Given the description of an element on the screen output the (x, y) to click on. 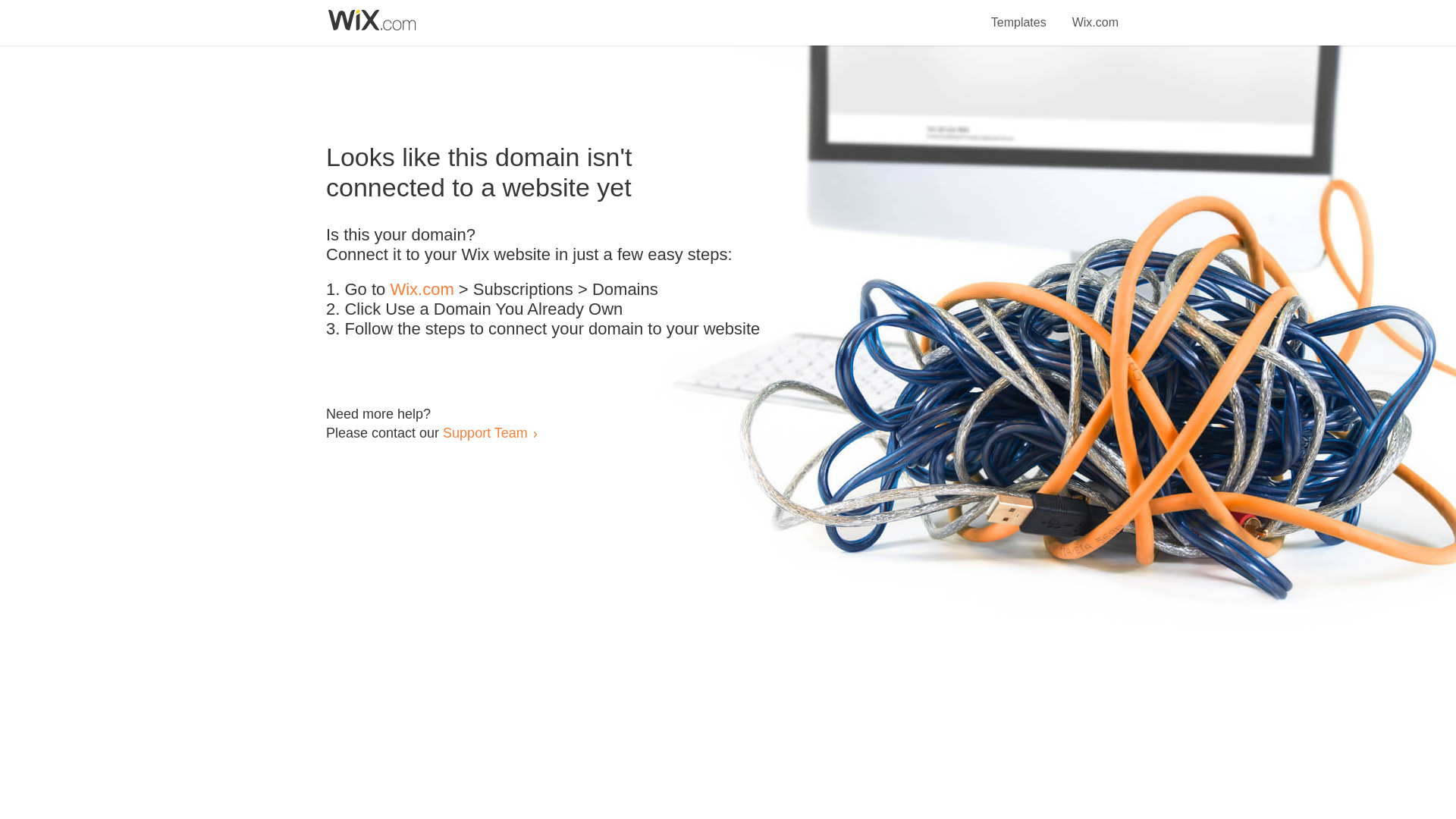
Wix.com (1095, 14)
Wix.com (421, 289)
Templates (1018, 14)
Support Team (484, 432)
